Given the description of an element on the screen output the (x, y) to click on. 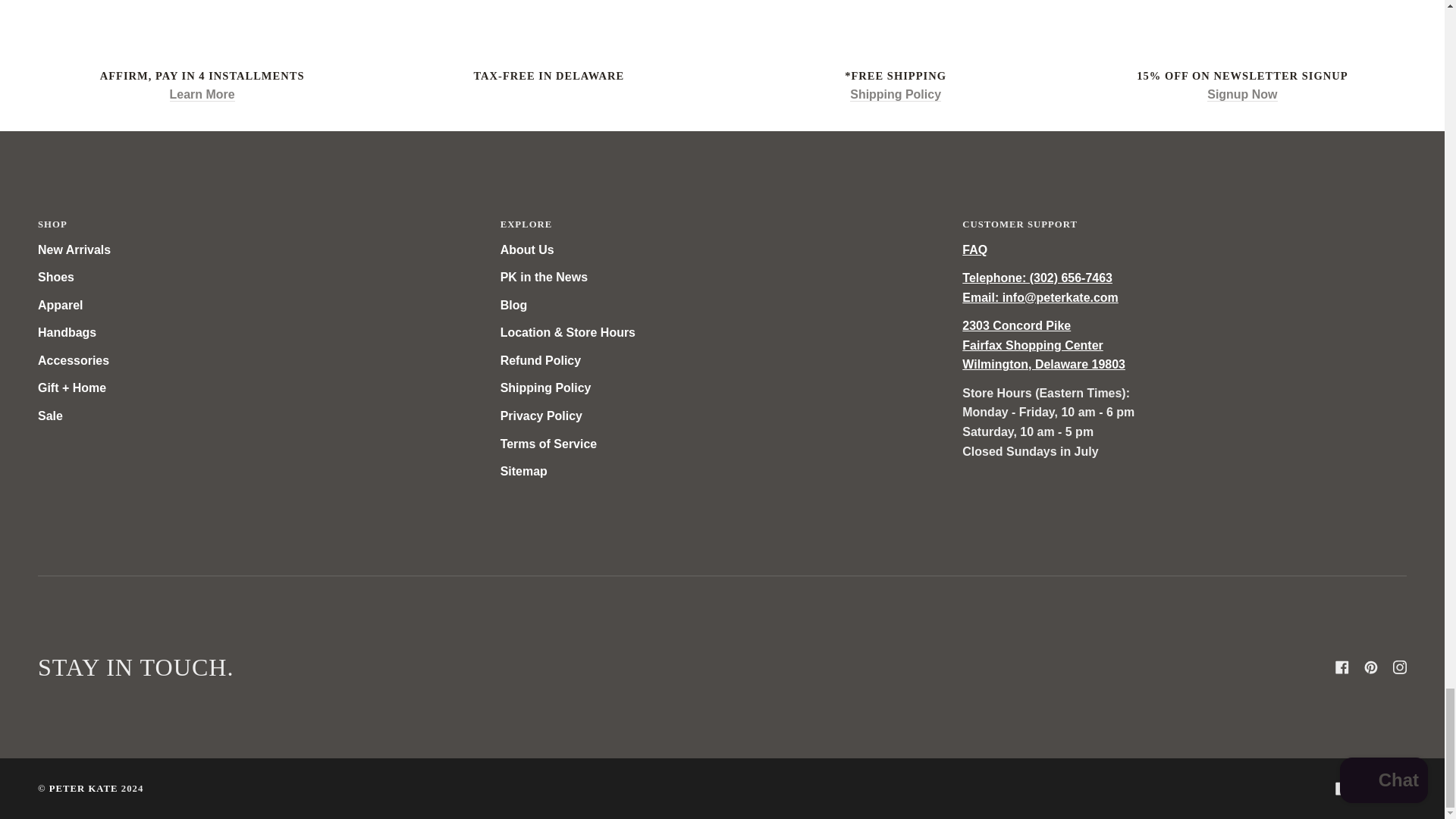
Instagram (1399, 788)
Instagram (1399, 667)
Facebook (1342, 667)
Pinterest (1370, 667)
Pinterest (1370, 788)
Facebook (1342, 788)
